Given the description of an element on the screen output the (x, y) to click on. 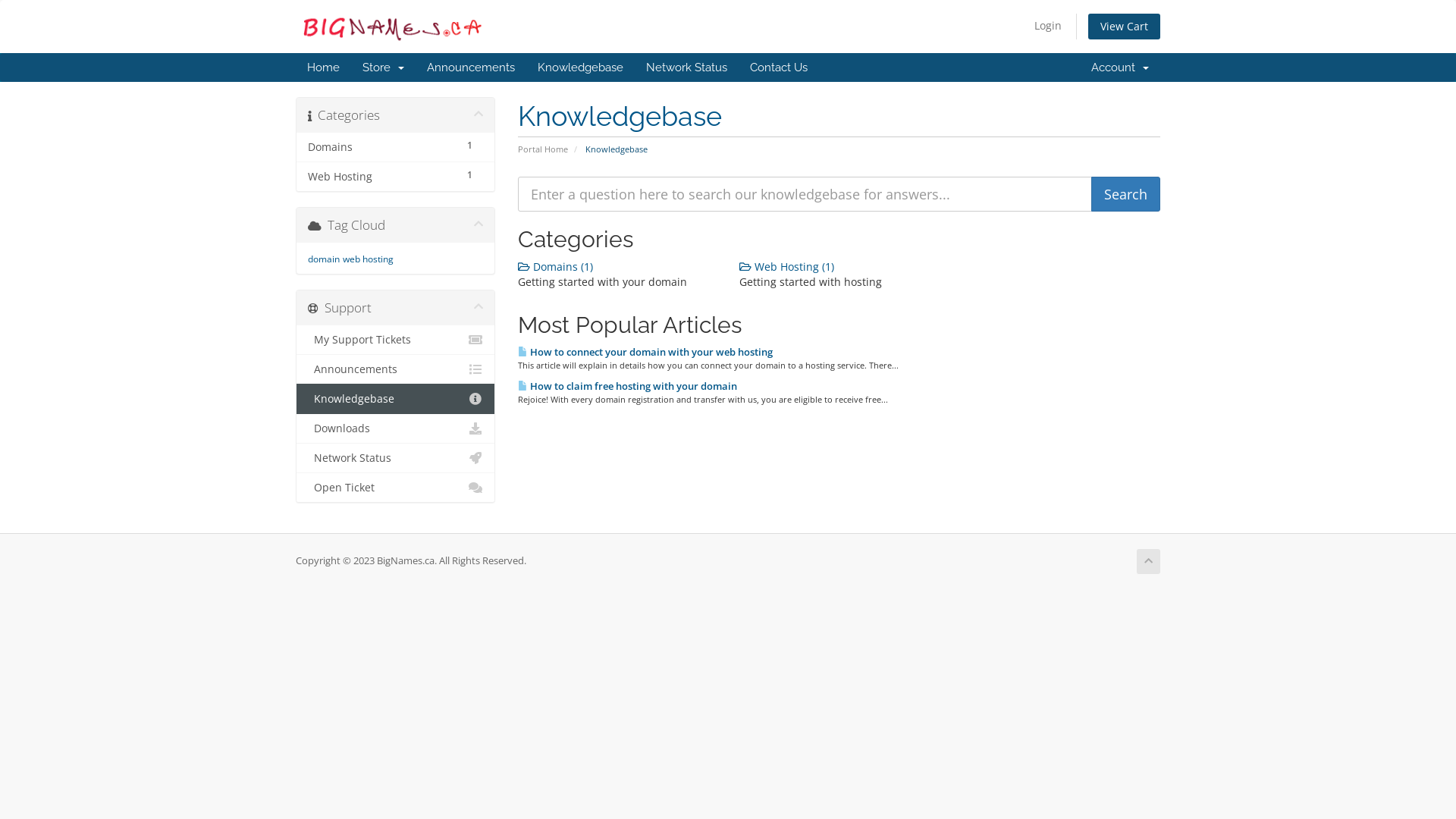
Login Element type: text (1047, 25)
Knowledgebase Element type: text (580, 67)
Announcements Element type: text (470, 67)
Domains (1) Element type: text (554, 266)
domain Element type: text (323, 258)
Web Hosting (1) Element type: text (786, 266)
Home Element type: text (323, 67)
Portal Home Element type: text (542, 148)
View Cart Element type: text (1124, 26)
  My Support Tickets Element type: text (395, 339)
  Knowledgebase Element type: text (395, 398)
  Announcements Element type: text (395, 369)
1
Domains Element type: text (395, 147)
  Open Ticket Element type: text (395, 487)
Account   Element type: text (1119, 67)
 How to connect your domain with your web hosting Element type: text (644, 351)
 How to claim free hosting with your domain Element type: text (626, 385)
Contact Us Element type: text (778, 67)
  Network Status Element type: text (395, 457)
Store   Element type: text (383, 67)
  Downloads Element type: text (395, 428)
Network Status Element type: text (686, 67)
web hosting Element type: text (367, 258)
1
Web Hosting Element type: text (395, 176)
Search Element type: text (1125, 193)
